Given the description of an element on the screen output the (x, y) to click on. 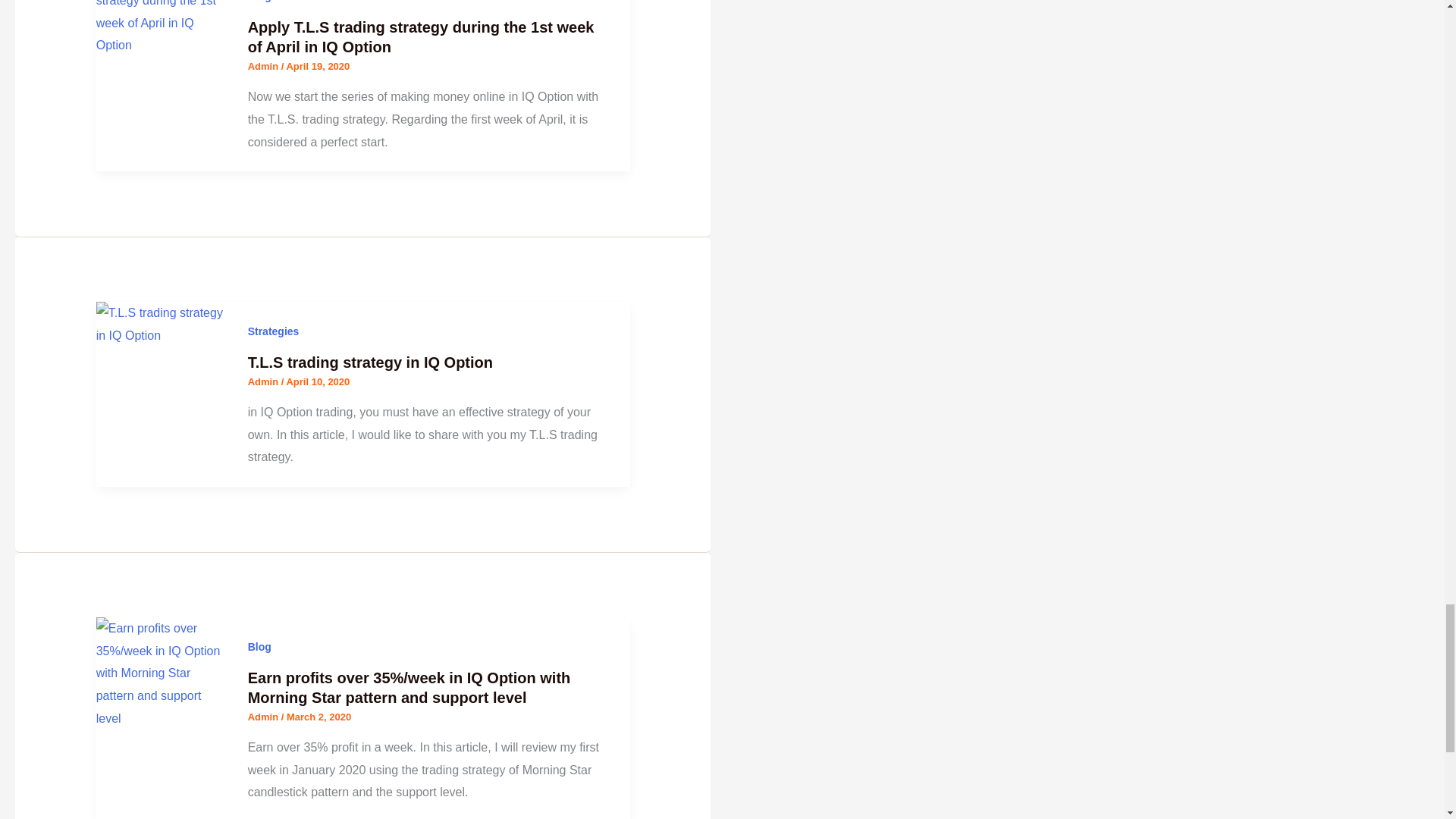
View all posts by Admin (264, 716)
View all posts by Admin (264, 381)
View all posts by Admin (264, 66)
